Given the description of an element on the screen output the (x, y) to click on. 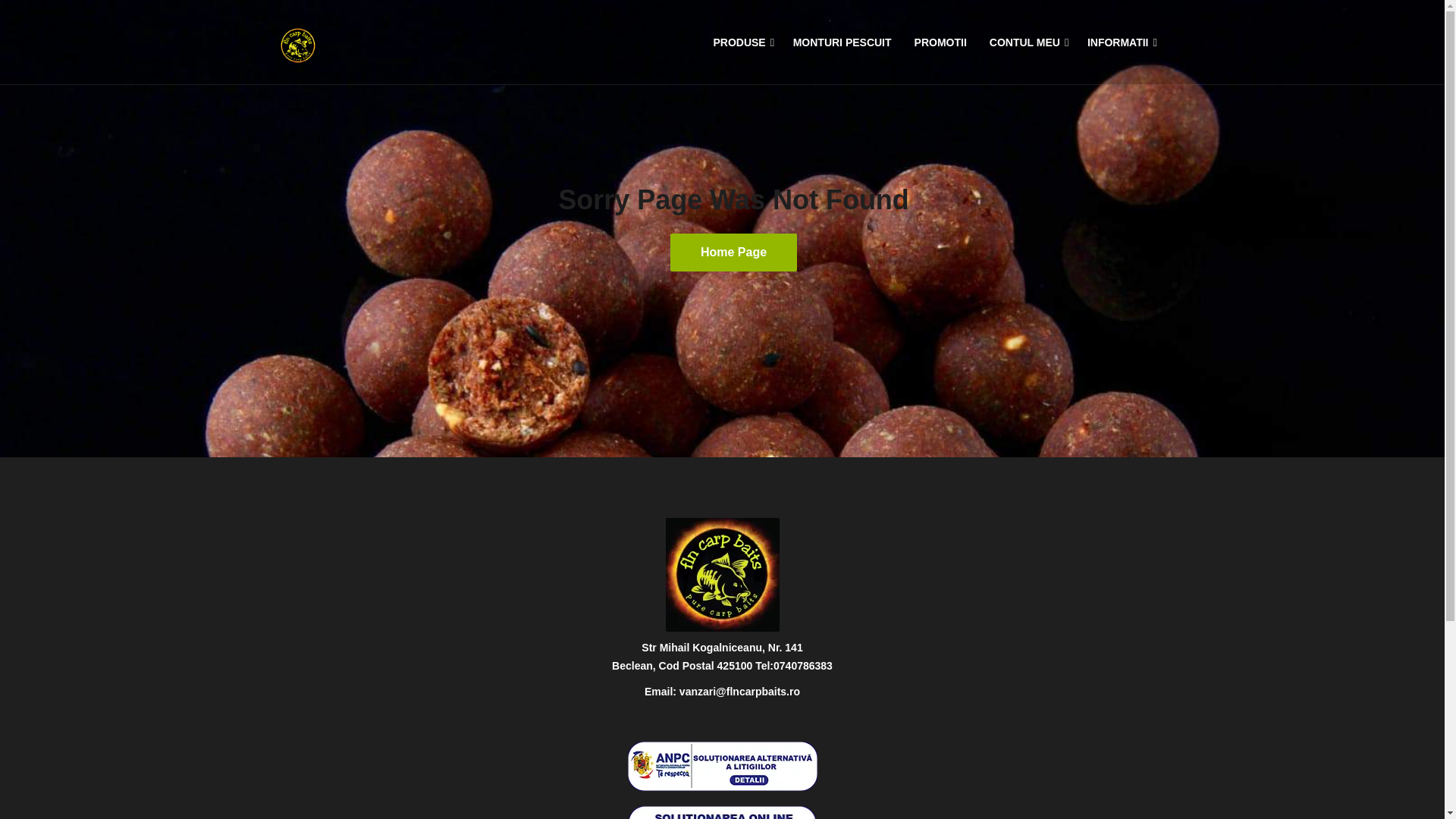
CONTUL MEU (1024, 34)
MONTURI PESCUIT (841, 34)
PRODUSE (738, 34)
PROMOTII (940, 34)
INFORMATII (1117, 34)
Home Page (732, 252)
